Given the description of an element on the screen output the (x, y) to click on. 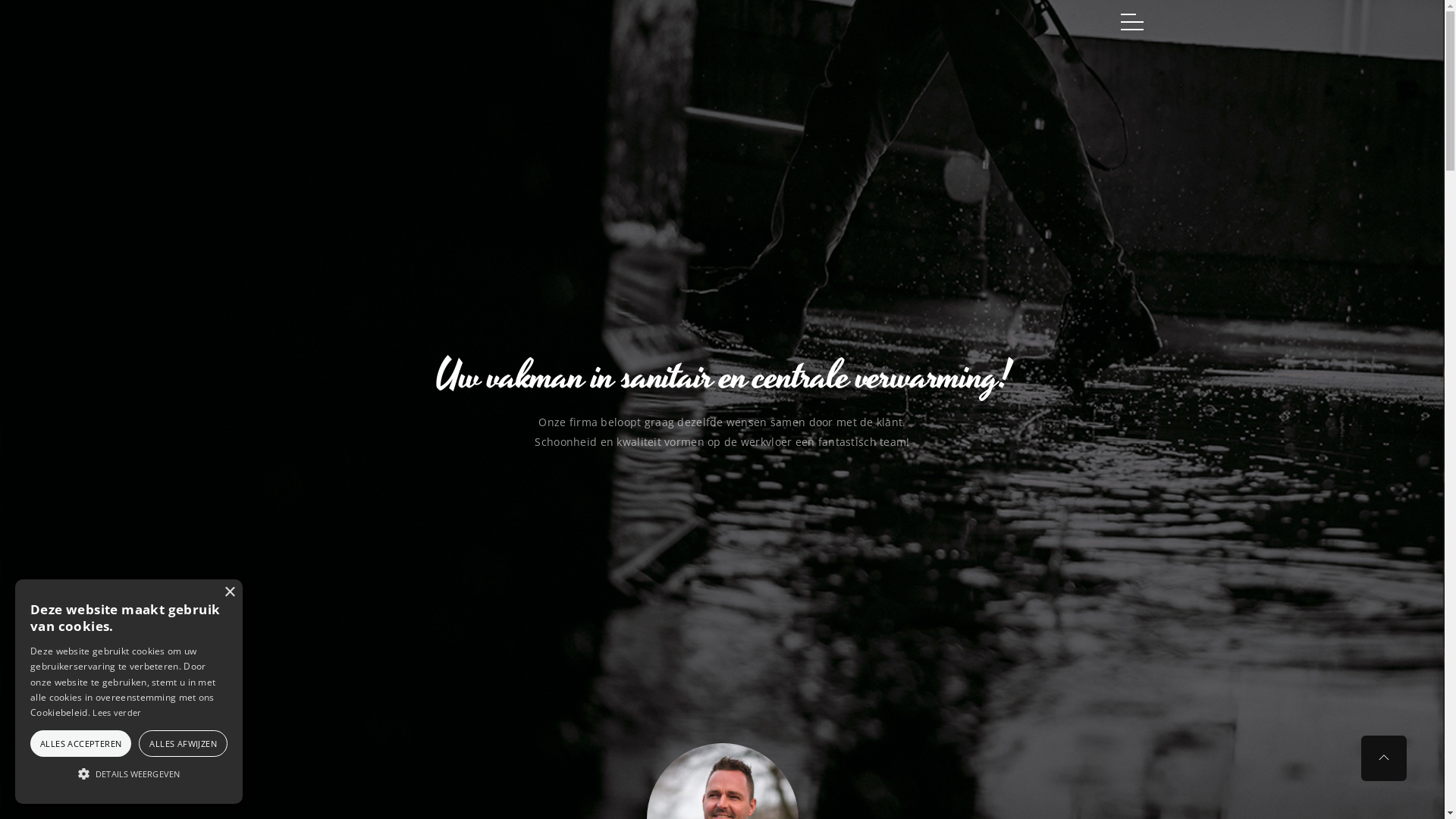
Lees verder Element type: text (116, 712)
